Given the description of an element on the screen output the (x, y) to click on. 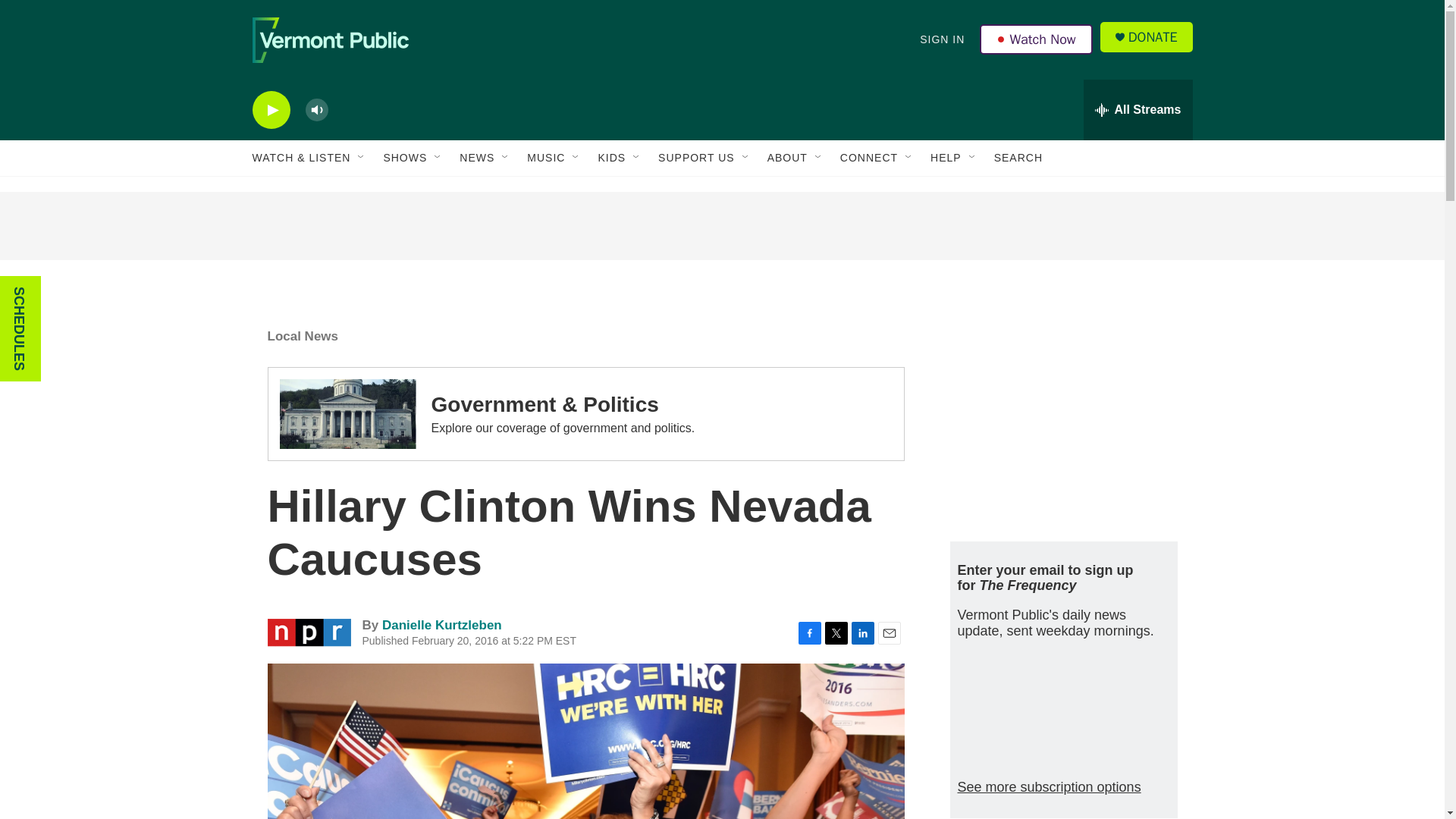
3rd party ad content (1062, 416)
3rd party ad content (721, 225)
